Given the description of an element on the screen output the (x, y) to click on. 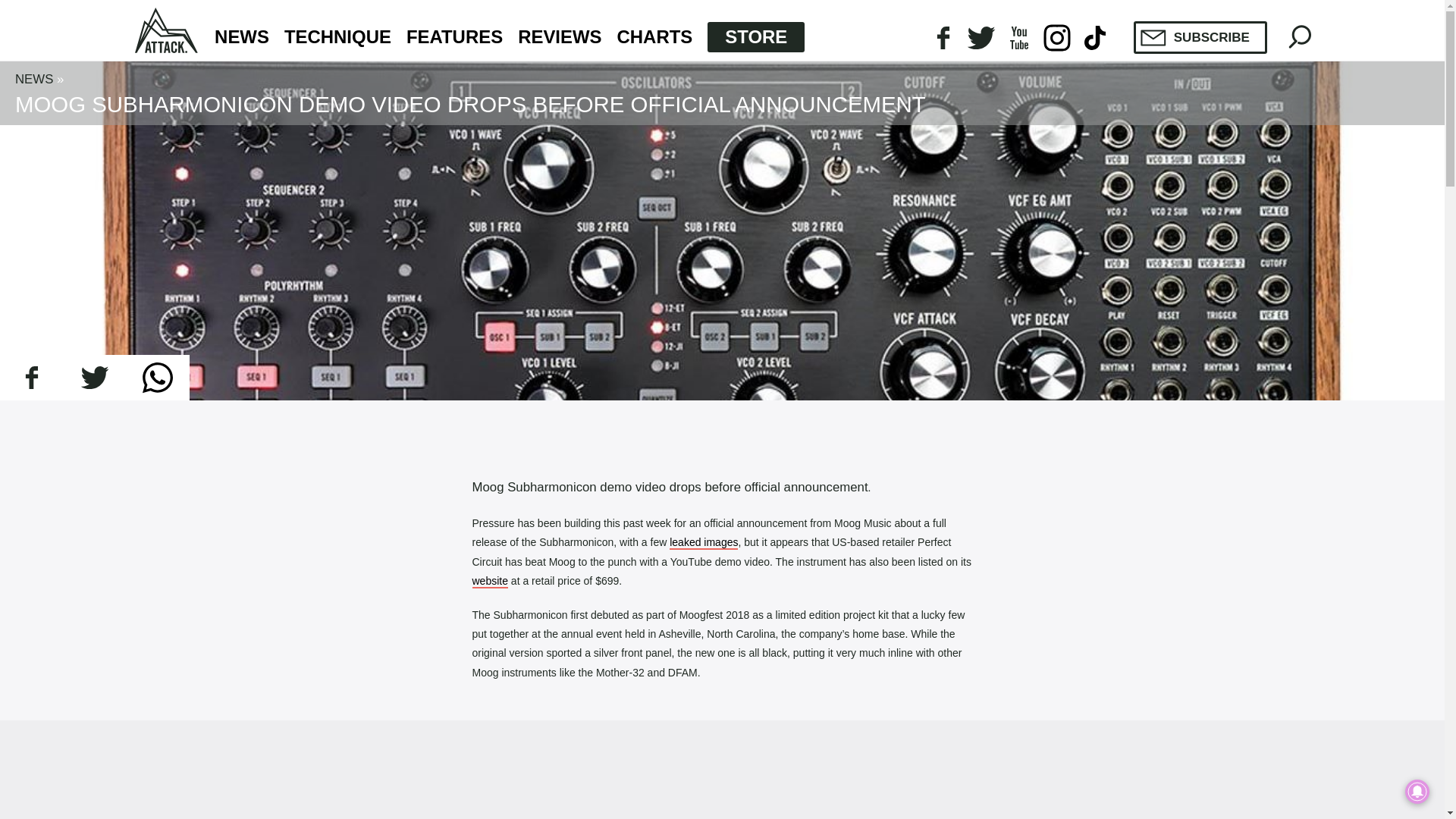
Attack Magazine (167, 30)
REVIEWS (559, 37)
NEWS (241, 37)
FEATURES (454, 37)
Attack Magazine (167, 30)
TECHNIQUE (337, 37)
